Given the description of an element on the screen output the (x, y) to click on. 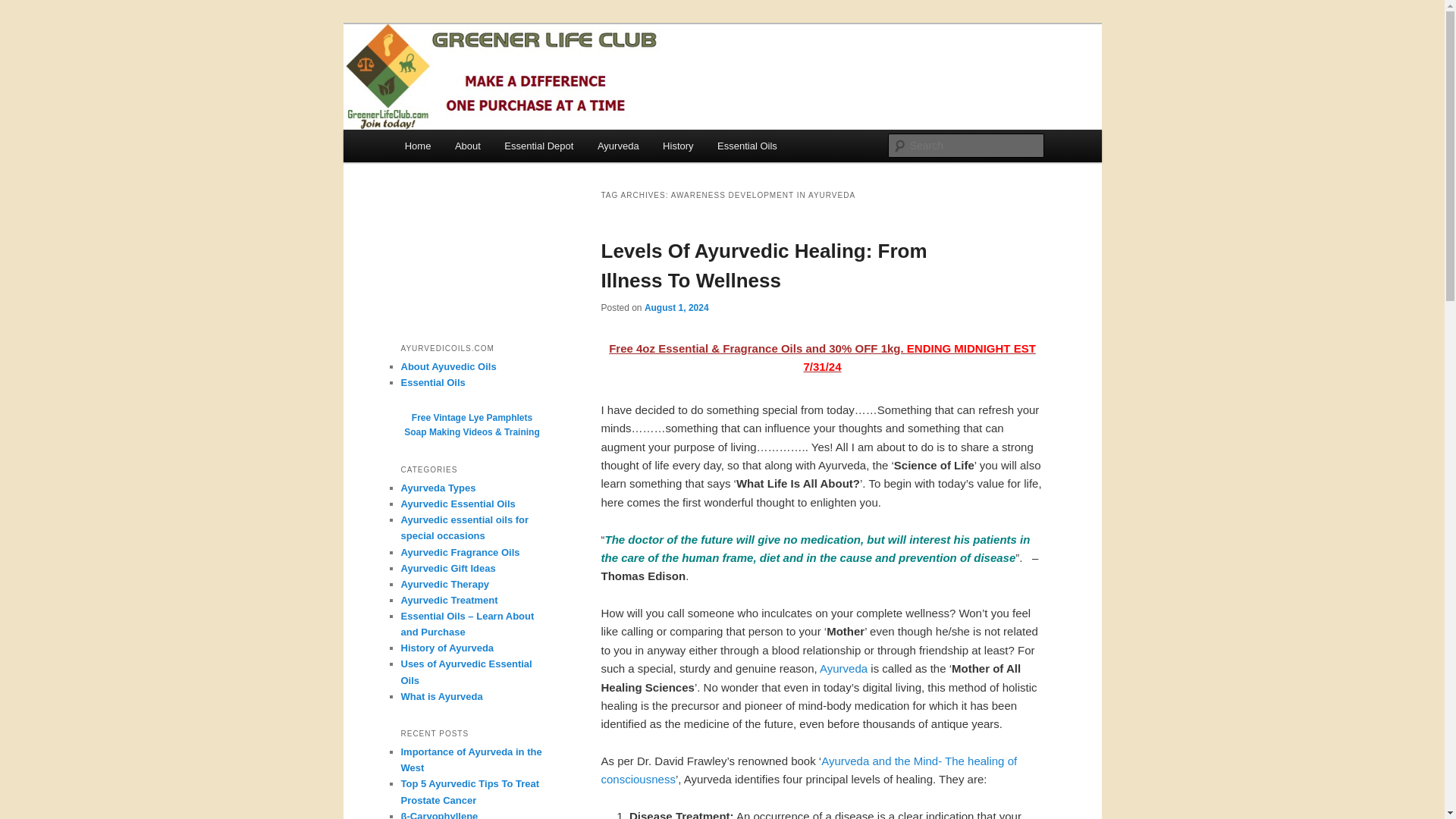
History (677, 145)
About (467, 145)
Levels Of Ayurvedic Healing: From Illness To Wellness (762, 265)
Essential Oils (746, 145)
About Ayuvedic Oils (448, 366)
4:11 pm (677, 307)
Essential Oils (432, 382)
Search (24, 8)
Ayurveda (843, 667)
Ayurveda (617, 145)
